Given the description of an element on the screen output the (x, y) to click on. 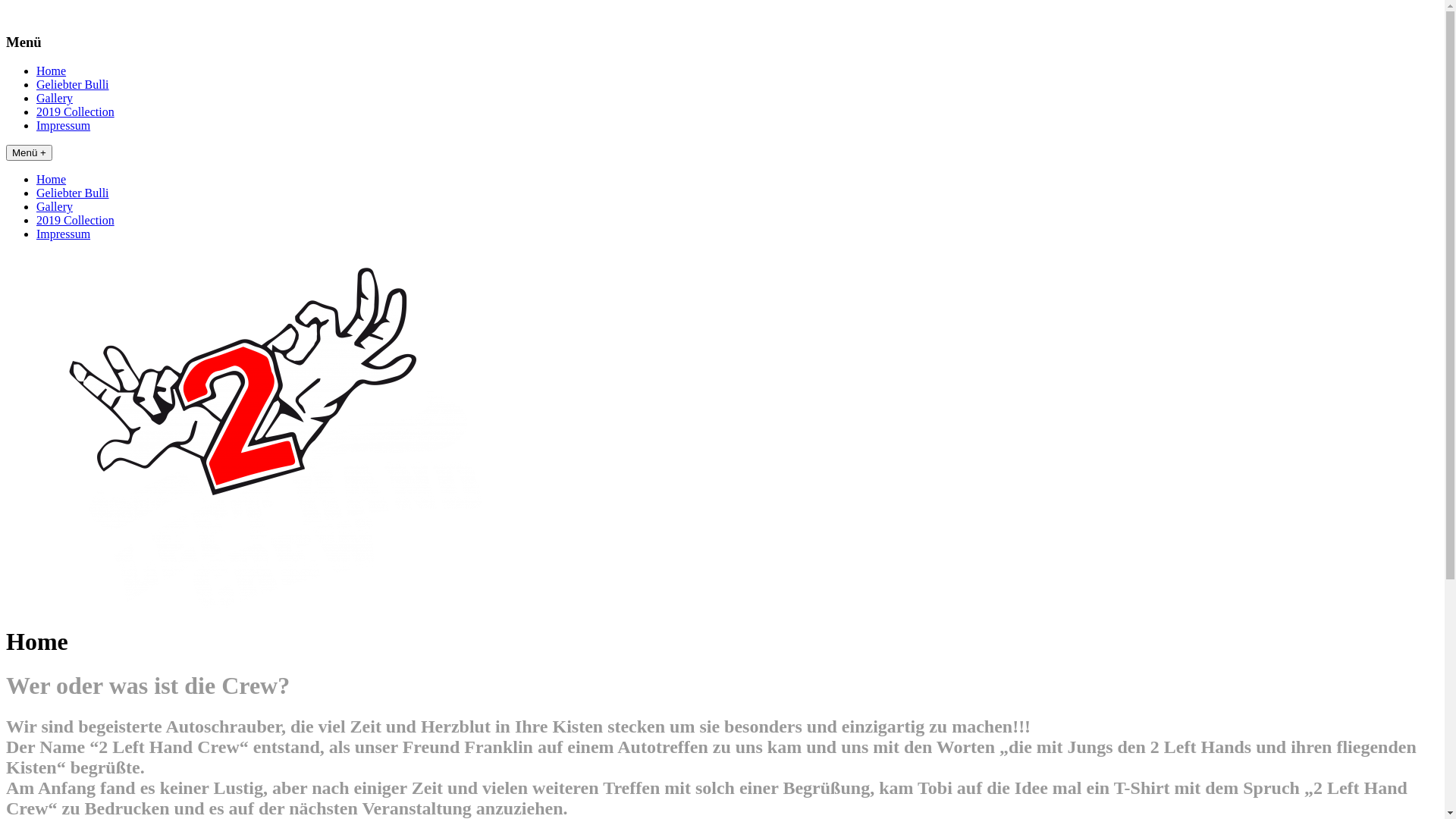
Impressum Element type: text (63, 125)
Geliebter Bulli Element type: text (72, 192)
Gallery Element type: text (54, 206)
Home Element type: text (50, 70)
Geliebter Bulli Element type: text (72, 84)
Skip to content Element type: text (5, 5)
Impressum Element type: text (63, 233)
Gallery Element type: text (54, 97)
2019 Collection Element type: text (75, 219)
2019 Collection Element type: text (75, 111)
Home Element type: text (50, 178)
